Given the description of an element on the screen output the (x, y) to click on. 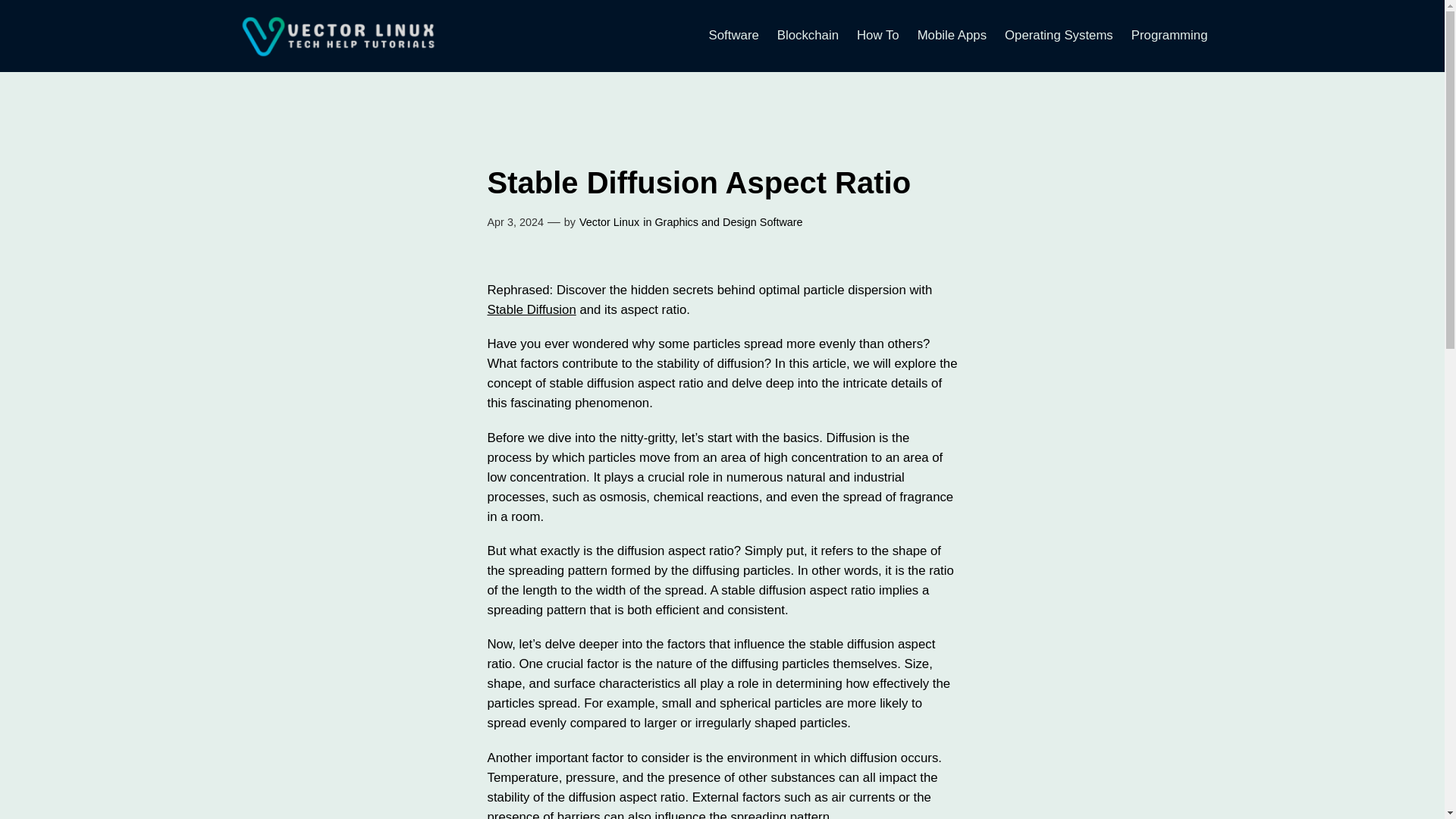
Apr 3, 2024 (514, 222)
Programming (1169, 35)
Stable Diffusion (530, 309)
How To (878, 35)
Software (733, 35)
Mobile Apps (952, 35)
Operating Systems (1058, 35)
Graphics and Design Software (727, 222)
Blockchain (807, 35)
Vector Linux (609, 222)
